Given the description of an element on the screen output the (x, y) to click on. 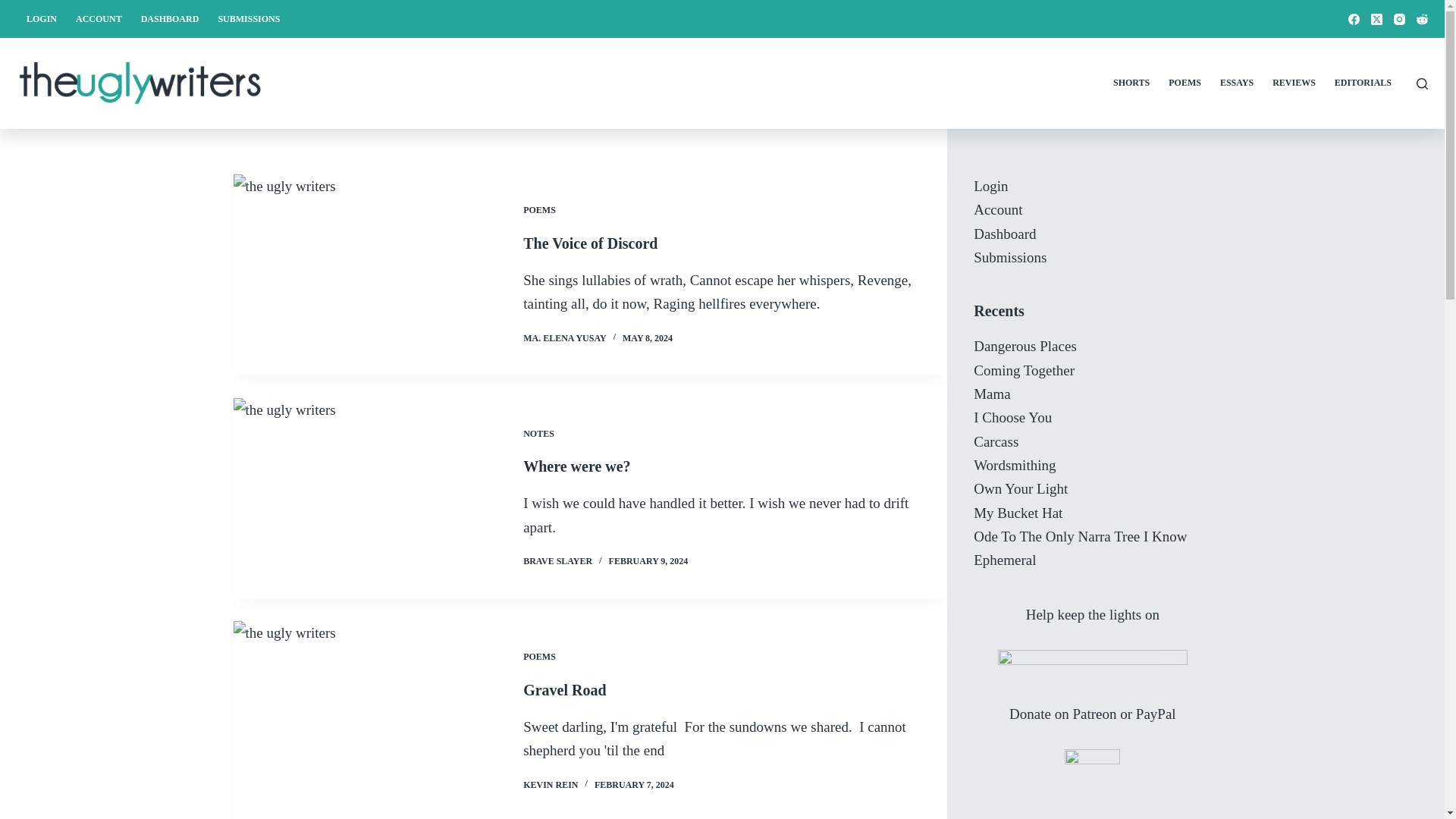
Posts by Kevin Rein (550, 784)
Posts by Ma. Elena Yusay (563, 337)
Posts by Brave Slayer (557, 561)
Skip to content (15, 7)
POEMS (539, 209)
The Voice of Discord (590, 243)
LOGIN (40, 18)
NOTES (538, 433)
MA. ELENA YUSAY (563, 337)
DASHBOARD (169, 18)
ACCOUNT (99, 18)
Where were we? (576, 466)
SUBMISSIONS (248, 18)
